Given the description of an element on the screen output the (x, y) to click on. 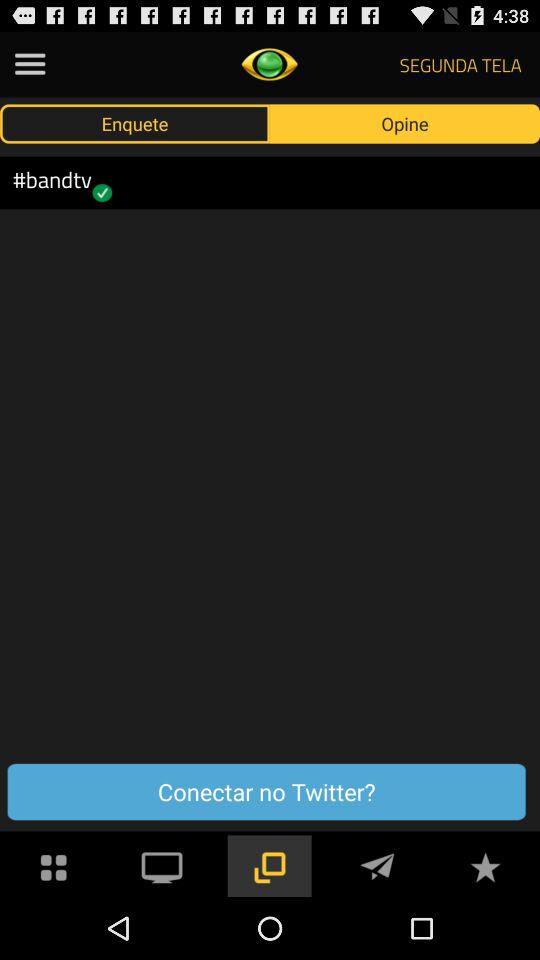
turn off the icon above enquete icon (29, 64)
